Given the description of an element on the screen output the (x, y) to click on. 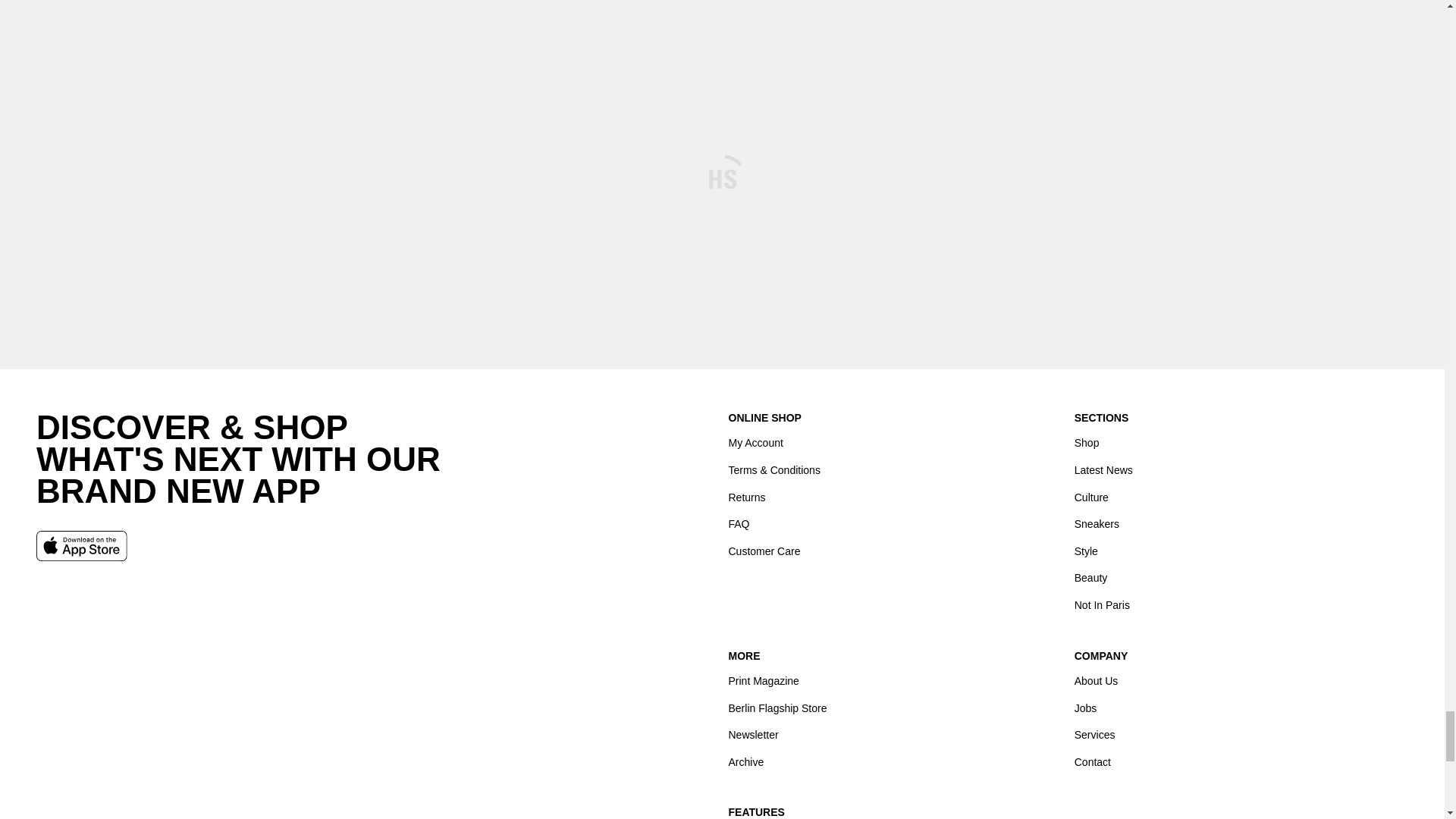
My Account (755, 442)
Shop (1086, 442)
Returns (746, 496)
Culture (1091, 496)
Latest News (1103, 470)
Customer Care (763, 550)
FAQ (738, 523)
